Given the description of an element on the screen output the (x, y) to click on. 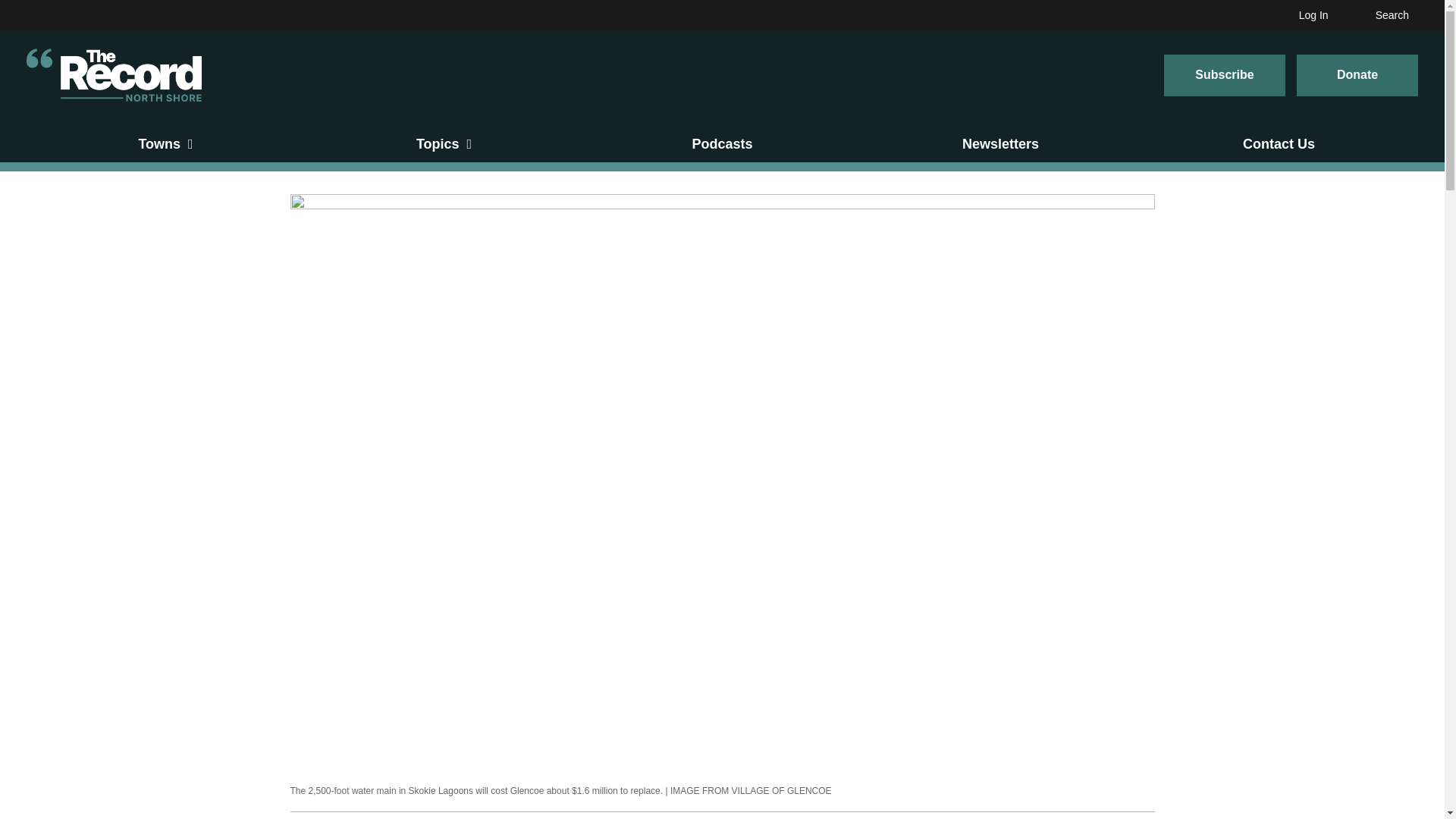
Donate (1357, 75)
Contact Us (1278, 144)
Podcasts (721, 144)
Newsletters (1000, 144)
The Record (114, 74)
Towns (165, 144)
Subscribe (1224, 75)
Topics (443, 144)
Log In (1318, 15)
